Given the description of an element on the screen output the (x, y) to click on. 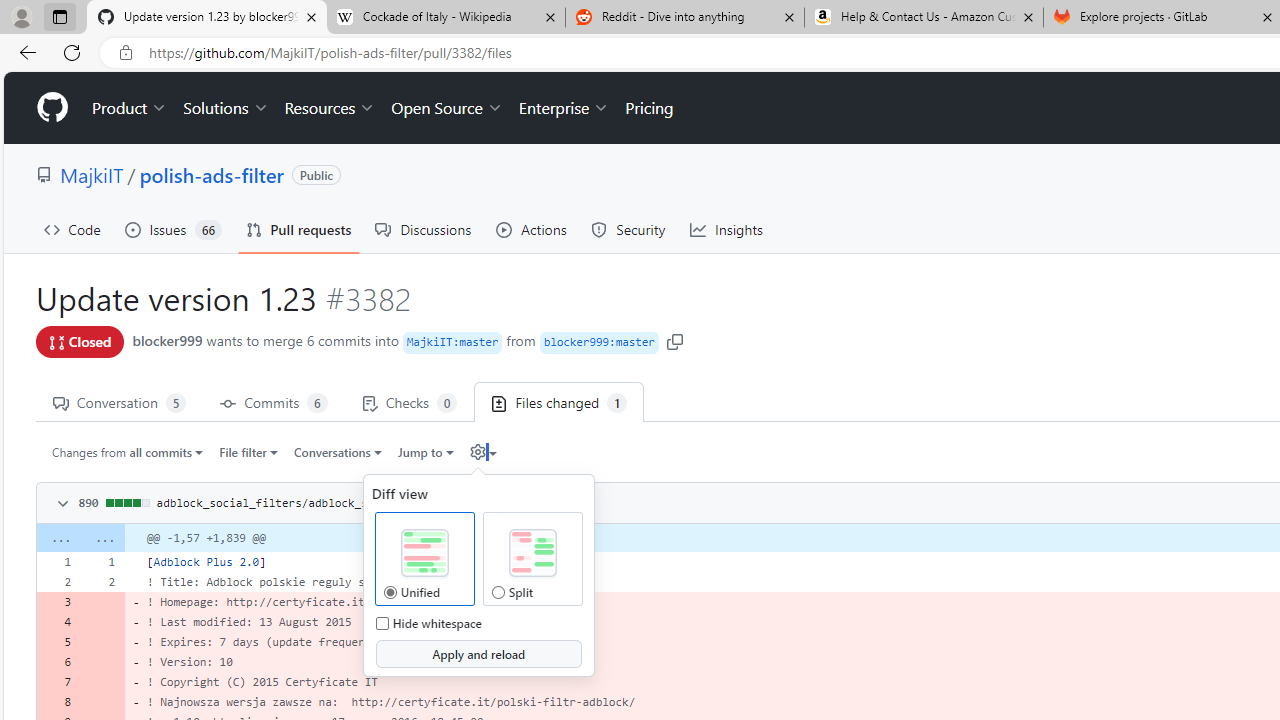
blocker999 (167, 340)
MajkiIT : master (452, 342)
Insights (726, 229)
Security (628, 229)
Toggle diff contents (60, 504)
2 (102, 581)
blocker999 : master (598, 342)
Resources (330, 107)
 Files changed 1 (559, 401)
 Checks 0 (409, 401)
4 (58, 622)
MajkiIT (92, 174)
